Given the description of an element on the screen output the (x, y) to click on. 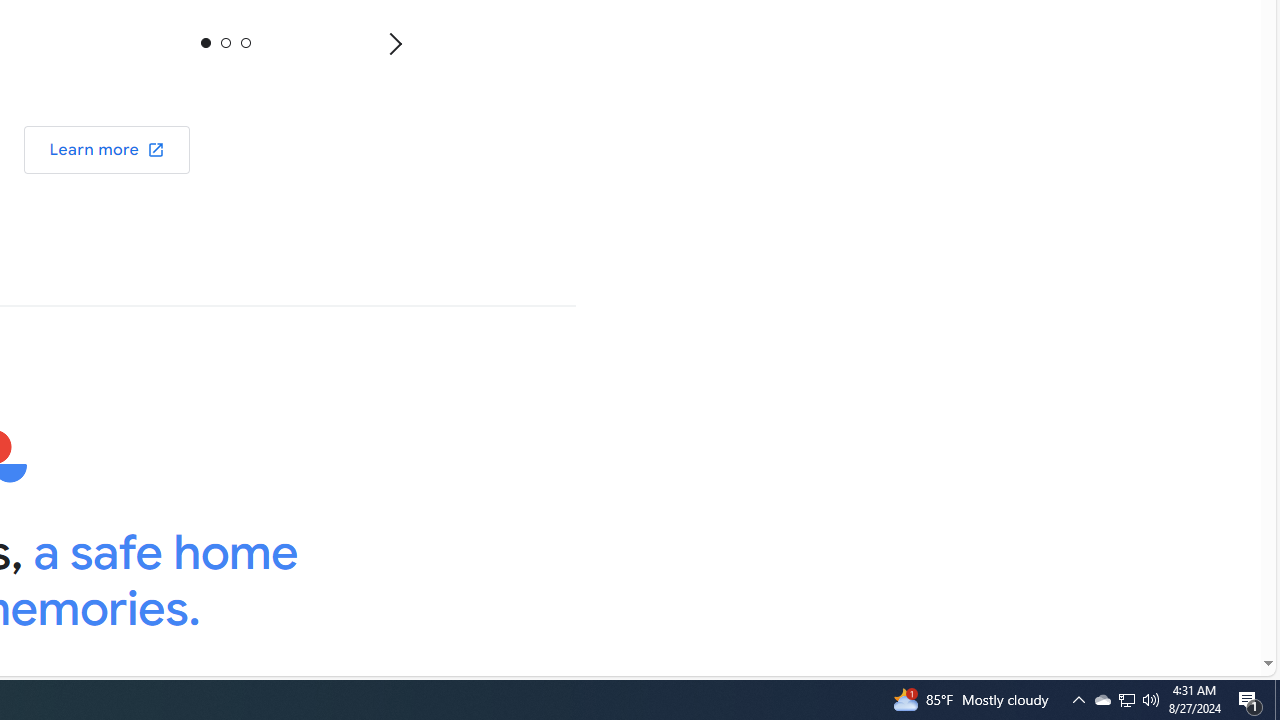
Next (394, 43)
2 (244, 42)
Learn more about YouTube (107, 149)
0 (205, 42)
1 (225, 42)
